Given the description of an element on the screen output the (x, y) to click on. 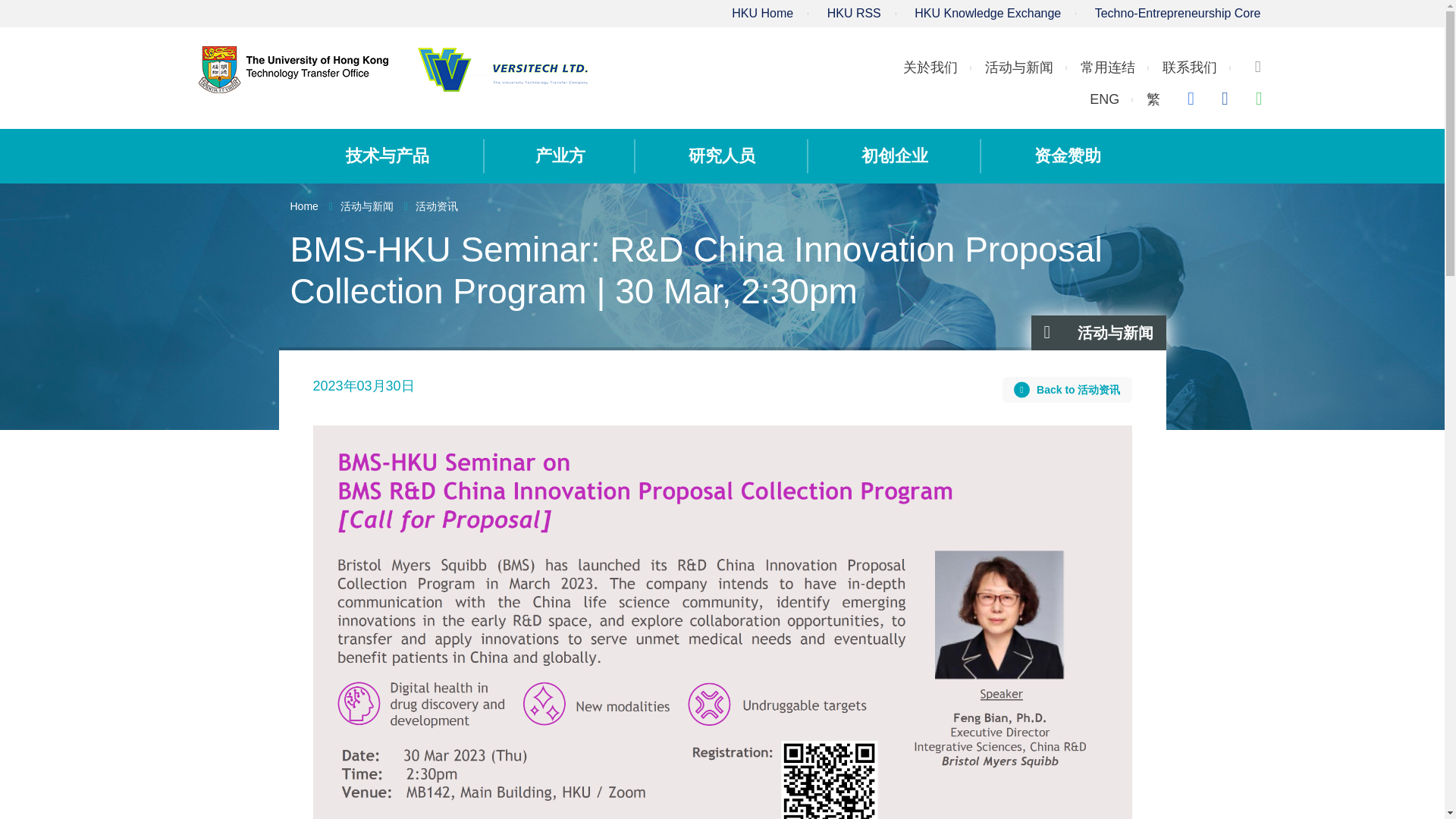
HKU Knowledge Exchange (987, 12)
Techno-Entrepreneurship Core (1177, 12)
HKU RSS (853, 12)
ENG (1103, 99)
HKU Home (762, 12)
